Given the description of an element on the screen output the (x, y) to click on. 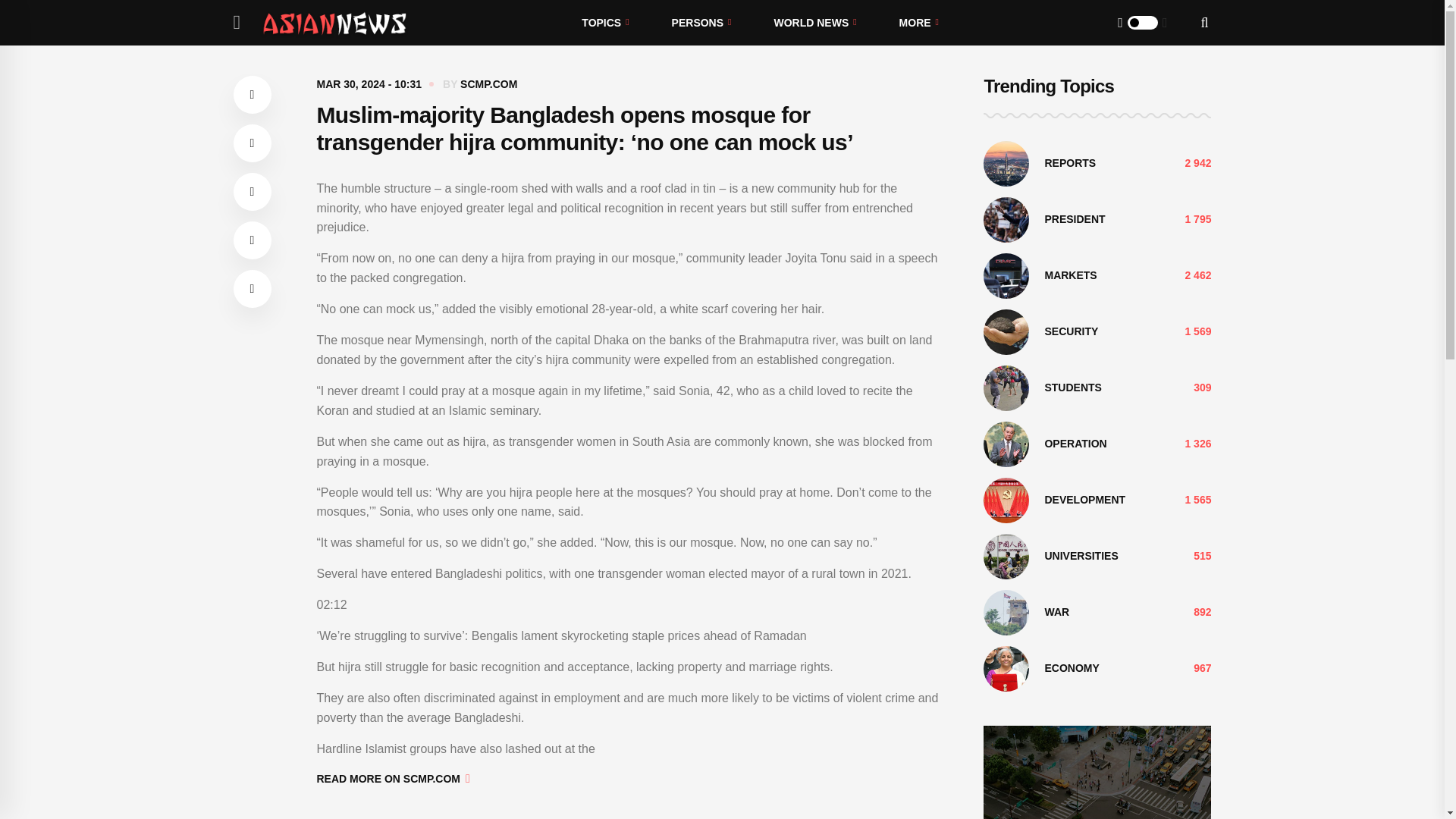
MORE (918, 22)
TOPICS (604, 22)
Topics (604, 22)
Persons (701, 22)
WORLD NEWS (814, 22)
PERSONS (701, 22)
